Given the description of an element on the screen output the (x, y) to click on. 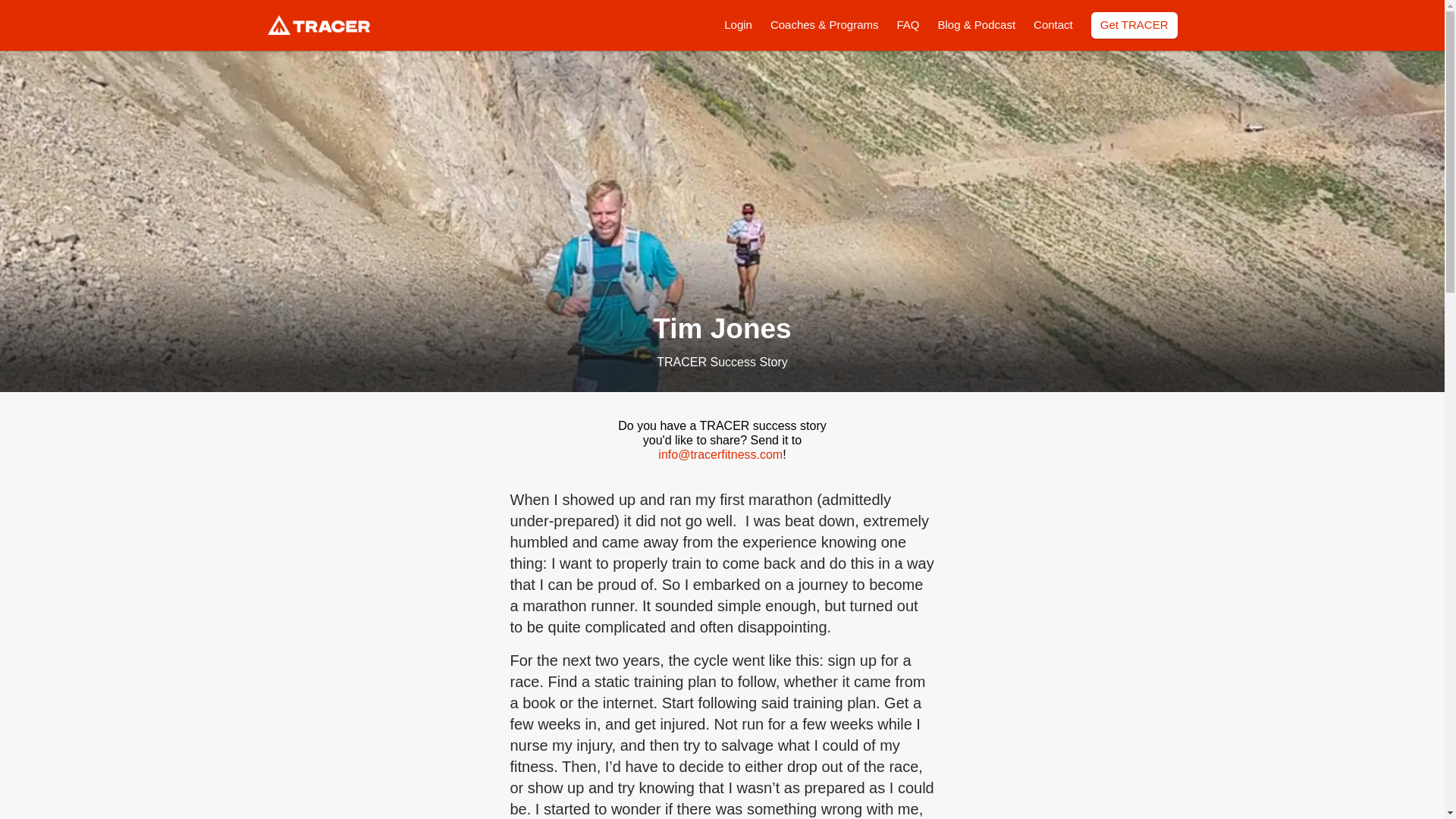
FAQ (907, 24)
Get TRACER (1133, 25)
Contact (1053, 24)
Login (737, 24)
